Given the description of an element on the screen output the (x, y) to click on. 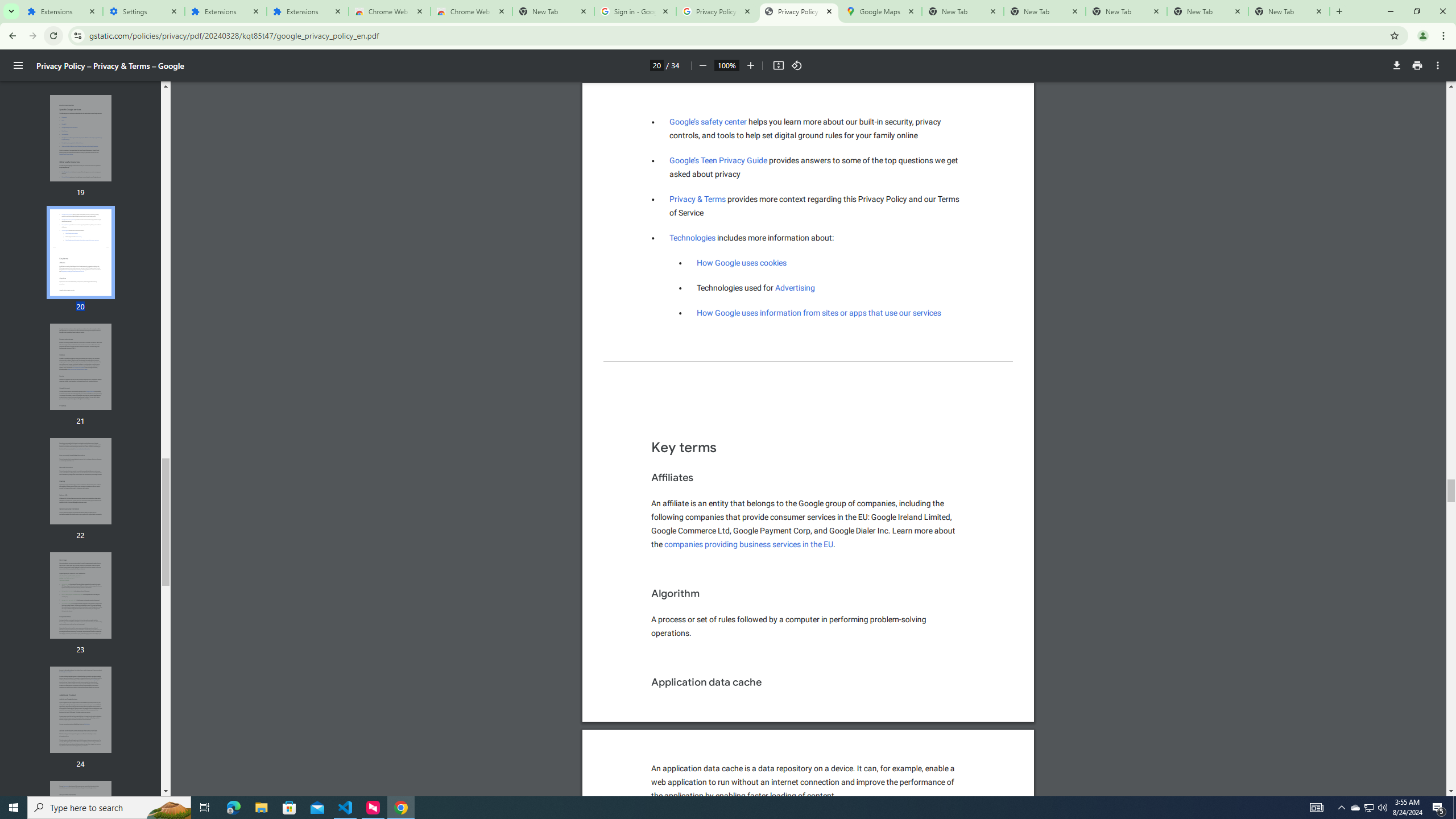
Thumbnail for page 19 (80, 138)
More actions (1437, 65)
Zoom out (702, 65)
Thumbnail for page 23 (80, 595)
Rotate counterclockwise (796, 65)
Sign in - Google Accounts (635, 11)
Page number (656, 64)
